Given the description of an element on the screen output the (x, y) to click on. 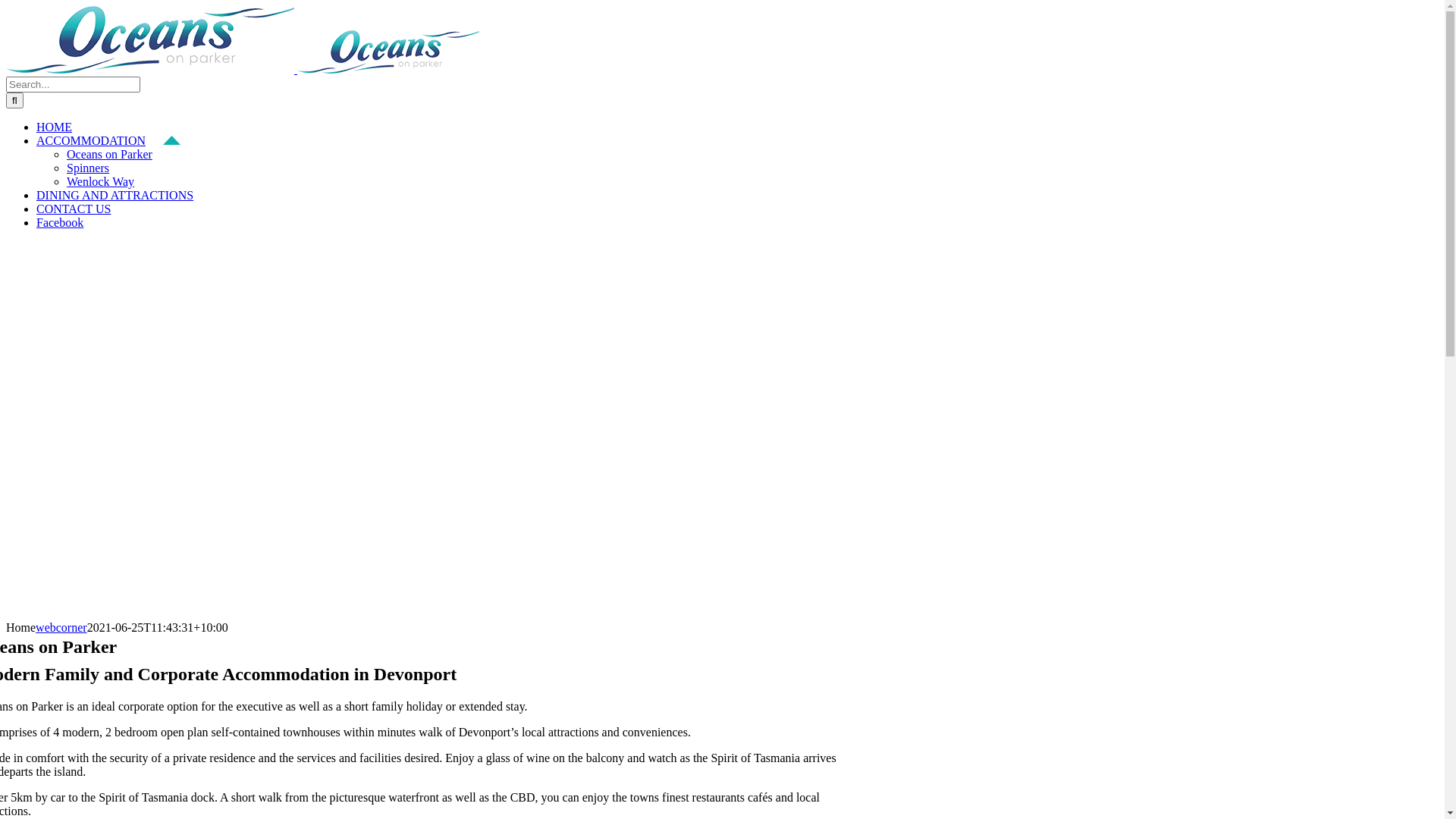
DINING AND ATTRACTIONS Element type: text (123, 194)
ACCOMMODATION Element type: text (108, 140)
Oceans on Parker Element type: text (109, 153)
webcorner Element type: text (61, 627)
CONTACT US Element type: text (82, 208)
HOME Element type: text (62, 126)
Skip to content Element type: text (5, 5)
Spinners Element type: text (87, 167)
Wenlock Way Element type: text (100, 181)
Facebook Element type: text (68, 222)
